Given the description of an element on the screen output the (x, y) to click on. 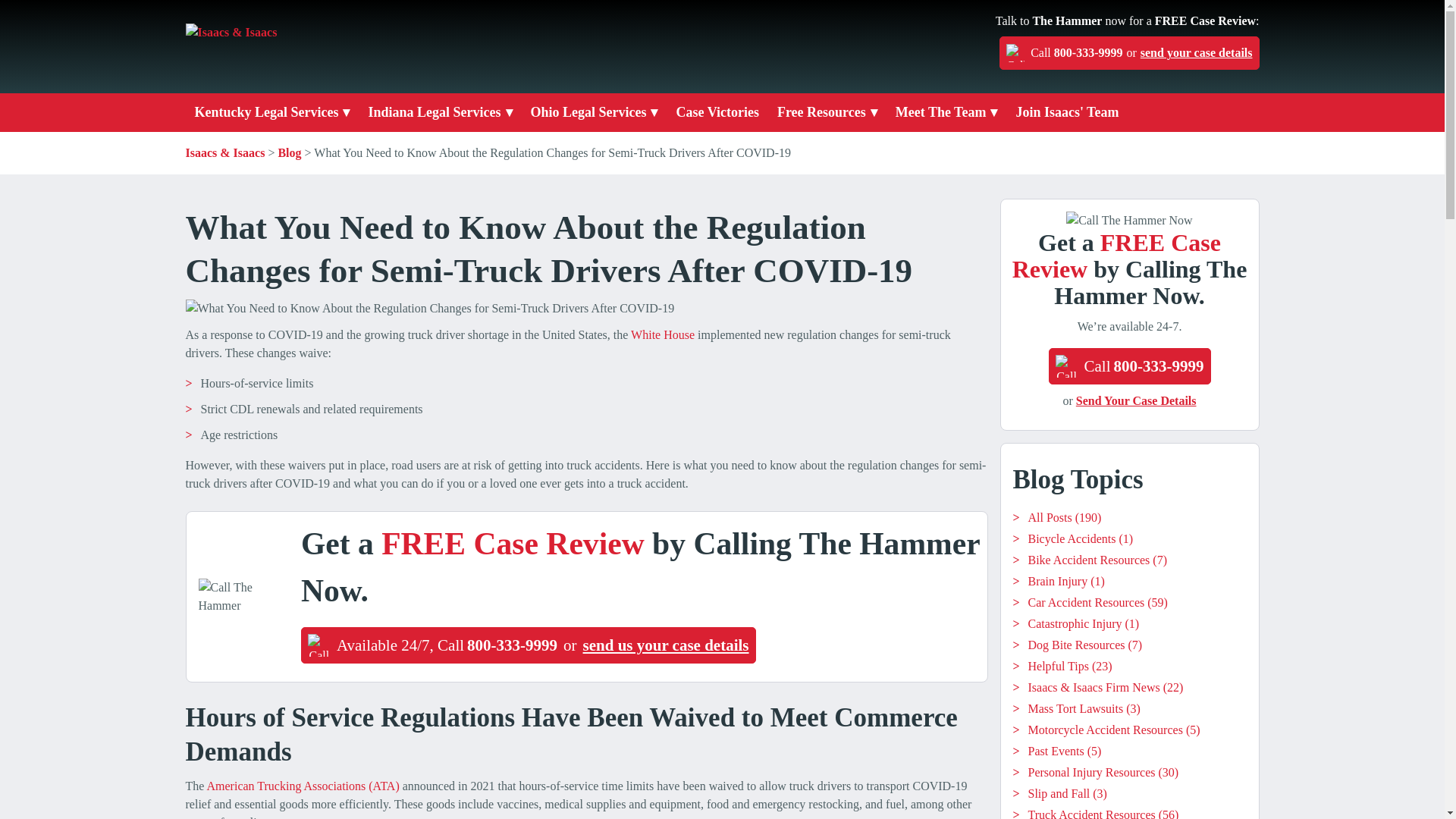
Kentucky Legal Services (1128, 52)
